Given the description of an element on the screen output the (x, y) to click on. 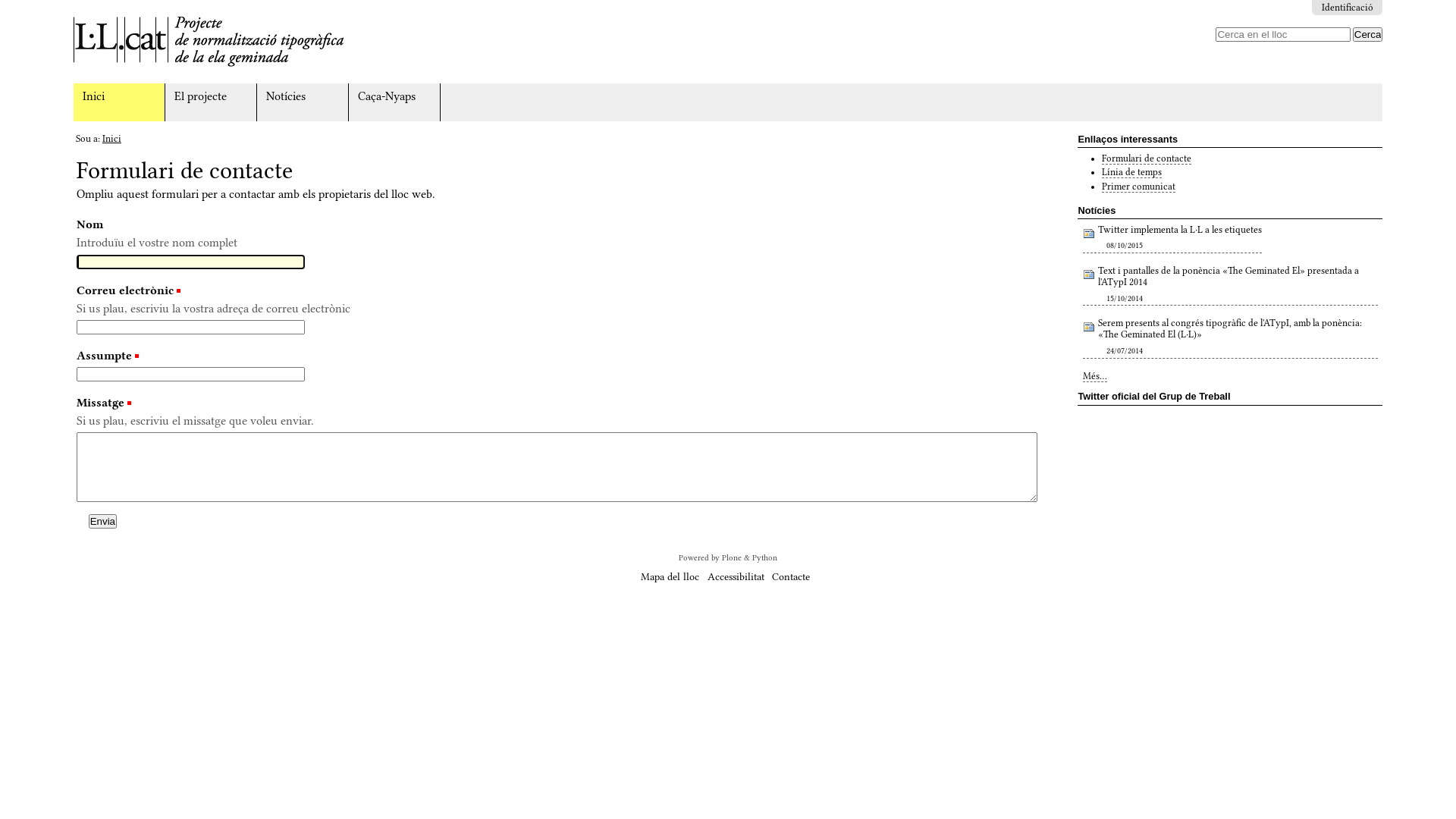
Powered by Plone & Python Element type: text (727, 557)
Mapa del lloc Element type: text (669, 576)
Cerca Element type: text (1367, 34)
El projecte Element type: text (211, 102)
Inici Element type: text (119, 102)
Cerca en el lloc Element type: hover (1282, 34)
Inici Element type: text (111, 138)
Formulari de contacte Element type: text (1146, 158)
ElaGeminada.CAT Element type: hover (208, 41)
Envia Element type: text (102, 521)
Accessibilitat Element type: text (735, 576)
Primer comunicat Element type: text (1138, 186)
Contacte Element type: text (790, 576)
Twitter oficial del Grup de Treball Element type: text (1229, 395)
